Given the description of an element on the screen output the (x, y) to click on. 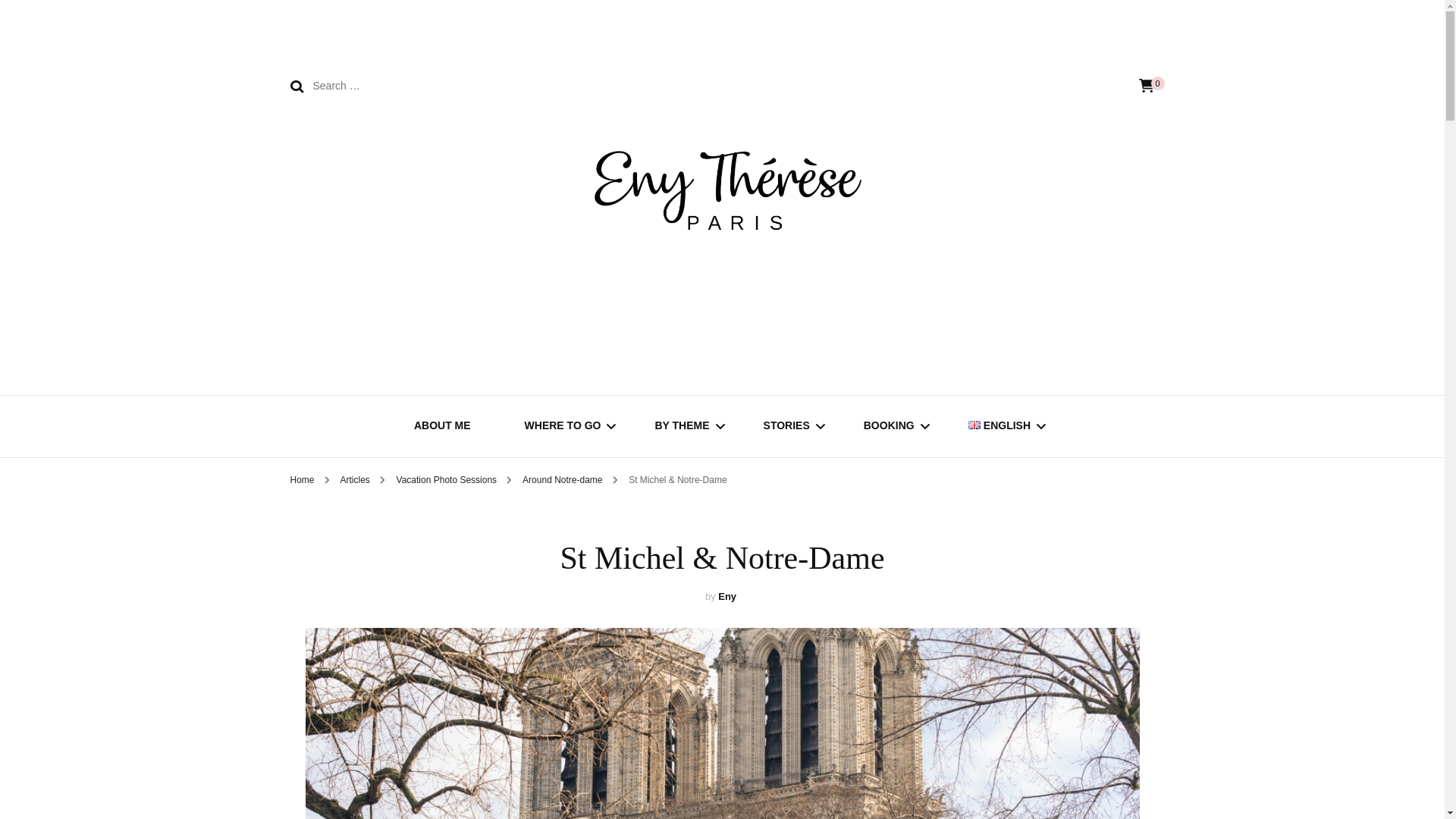
0 (1146, 85)
STORIES (785, 426)
ABOUT ME (441, 426)
BOOKING (888, 426)
WHERE TO GO (562, 426)
Search (295, 86)
Search (295, 86)
BY THEME (681, 426)
Search (295, 86)
View your shopping cart (1146, 85)
